Given the description of an element on the screen output the (x, y) to click on. 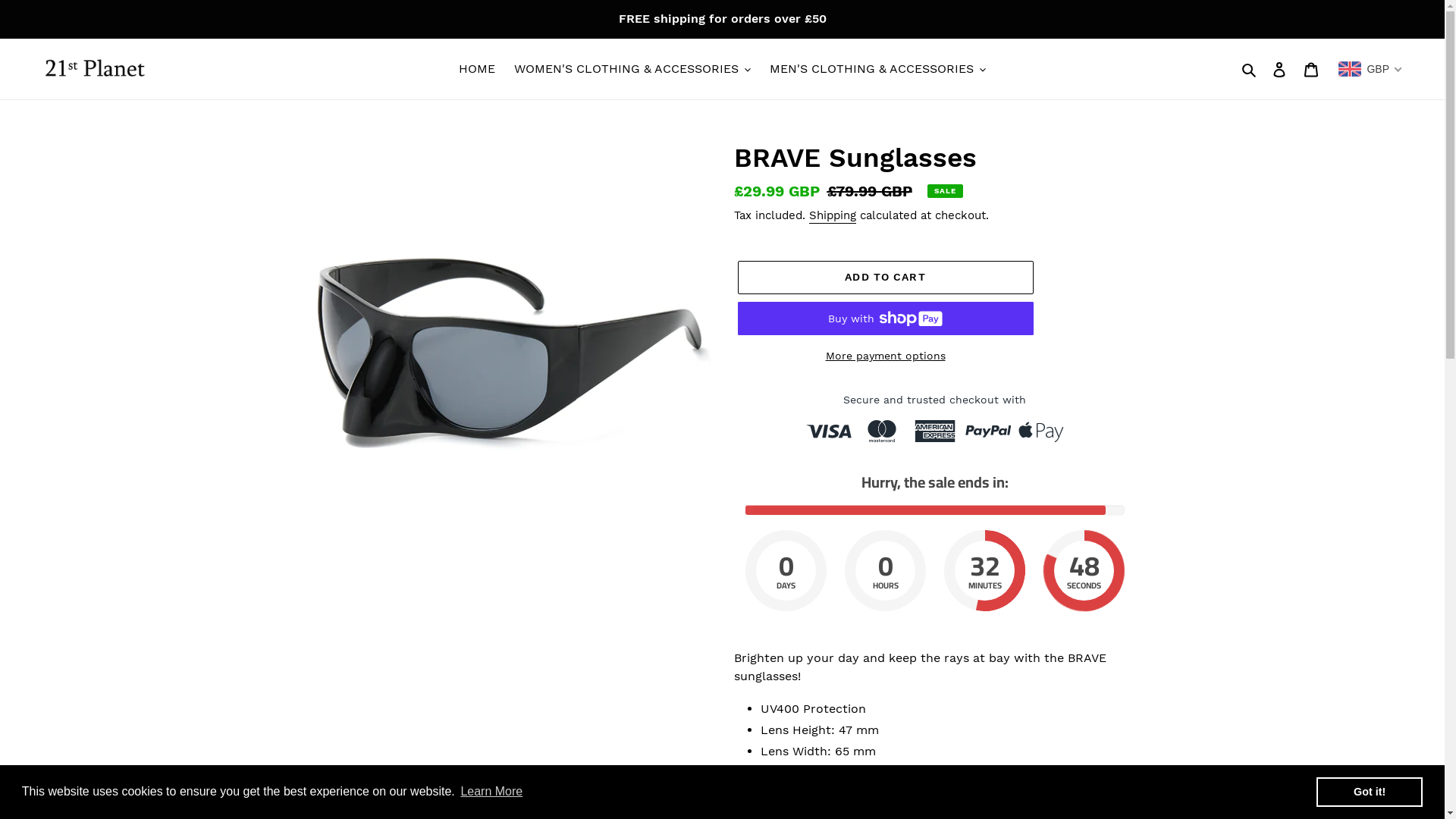
More payment options Element type: text (884, 355)
MEN'S CLOTHING & ACCESSORIES Element type: text (877, 68)
Got it! Element type: text (1369, 791)
HOME Element type: text (476, 68)
Search Element type: text (1249, 68)
Log in Element type: text (1279, 68)
Shipping Element type: text (831, 215)
Cart Element type: text (1311, 68)
WOMEN'S CLOTHING & ACCESSORIES Element type: text (632, 68)
ADD TO CART Element type: text (884, 277)
Learn More Element type: text (491, 791)
